Given the description of an element on the screen output the (x, y) to click on. 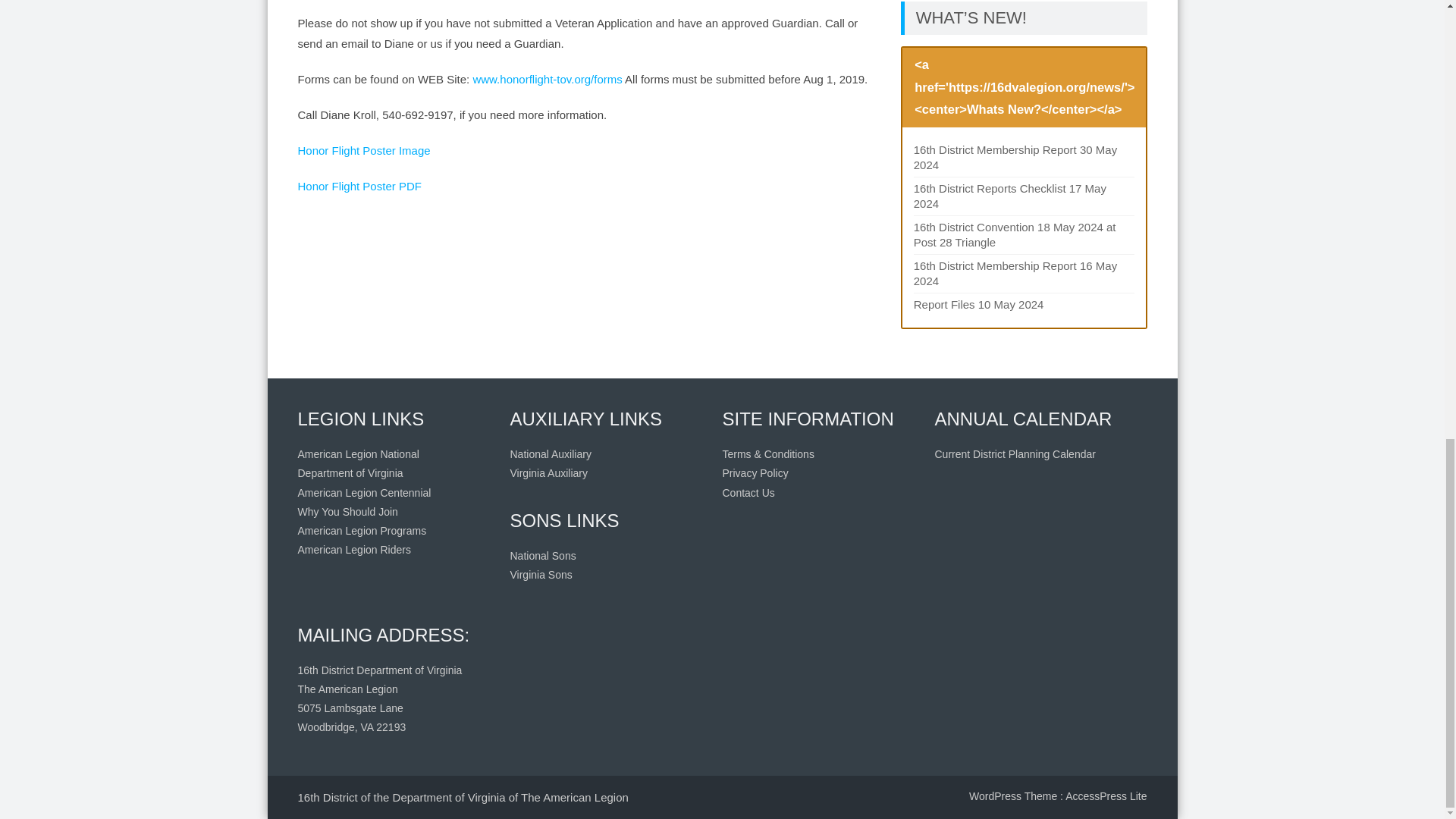
AccessPress Lite (1106, 796)
